Given the description of an element on the screen output the (x, y) to click on. 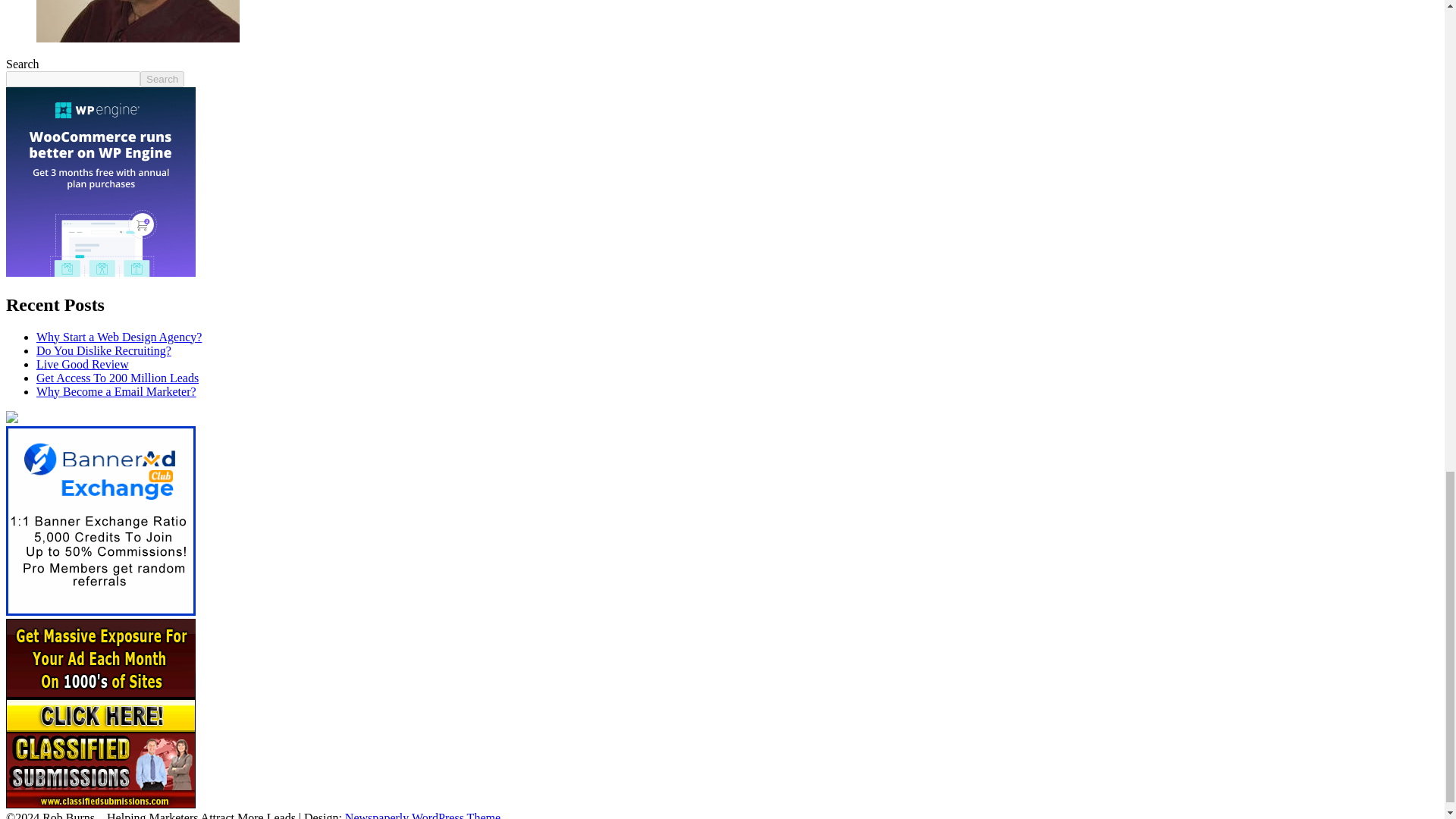
Why Start a Web Design Agency? (119, 336)
Why Become a Email Marketer? (116, 391)
Search (161, 78)
Get Access To 200 Million Leads (117, 377)
Live Good Review (82, 364)
Do You Dislike Recruiting? (103, 350)
